Given the description of an element on the screen output the (x, y) to click on. 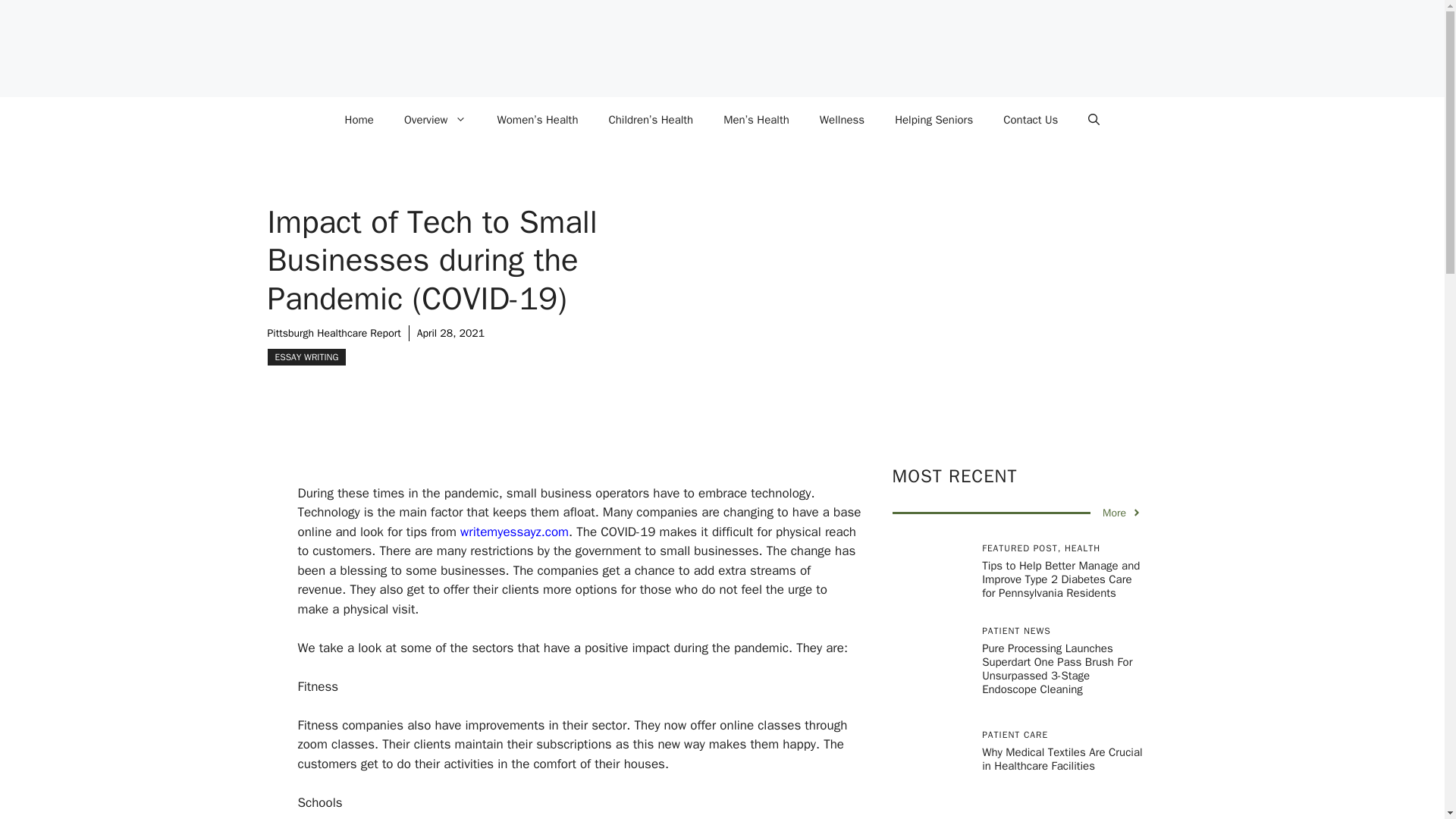
Home (359, 119)
Pittsburgh Healthcare Report (333, 332)
Overview (434, 119)
Contact Us (1030, 119)
Why Medical Textiles Are Crucial in Healthcare Facilities (1061, 759)
Wellness (842, 119)
Helping Seniors (933, 119)
More (1121, 512)
writemyessayz.com (514, 531)
